Given the description of an element on the screen output the (x, y) to click on. 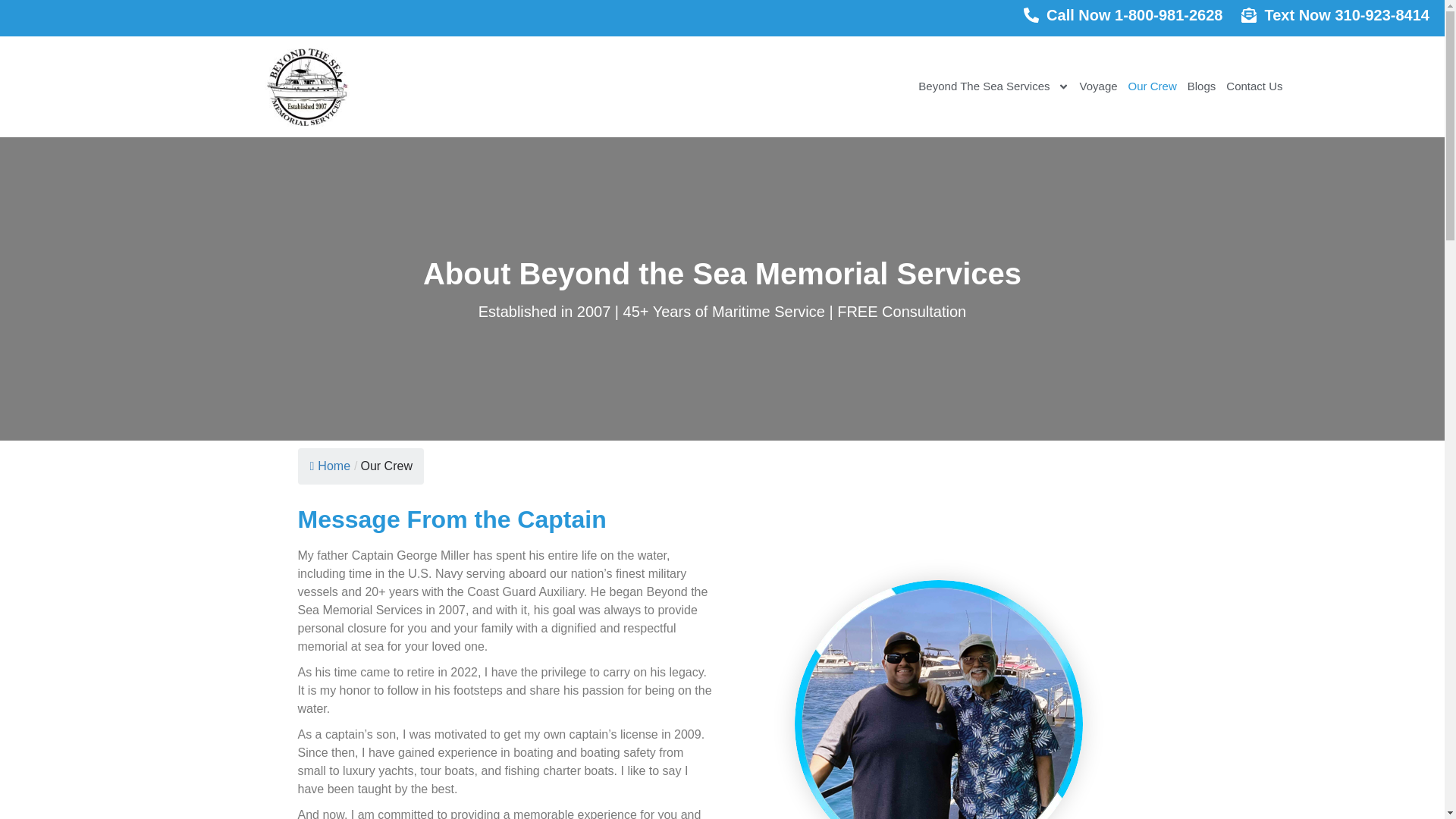
Home (329, 465)
Blogs (1201, 86)
Contact Us (1253, 86)
Voyage (1098, 86)
Our Crew (1151, 86)
Call Now 1-800-981-2628 (1134, 14)
Text Now 310-923-8414 (1346, 14)
Beyond The Sea Services (992, 86)
Our Crew (385, 465)
